Given the description of an element on the screen output the (x, y) to click on. 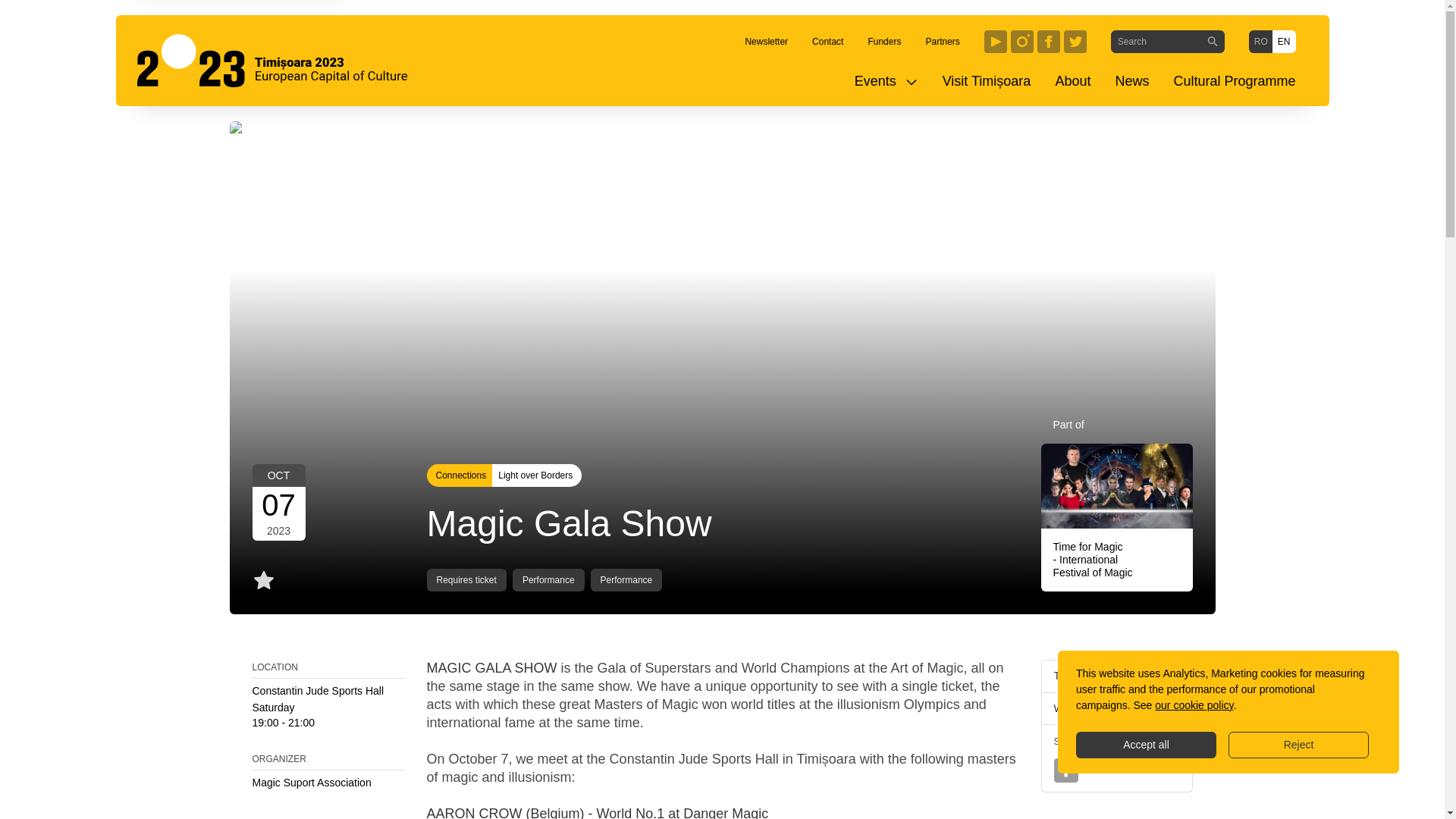
Contact (827, 41)
Cultural Programme (1233, 81)
Add to favorites (263, 579)
News (1131, 81)
Newsletter (765, 41)
our cookie policy (1193, 705)
About (1072, 81)
RO (1260, 41)
Partners (941, 41)
EN (1283, 41)
